Given the description of an element on the screen output the (x, y) to click on. 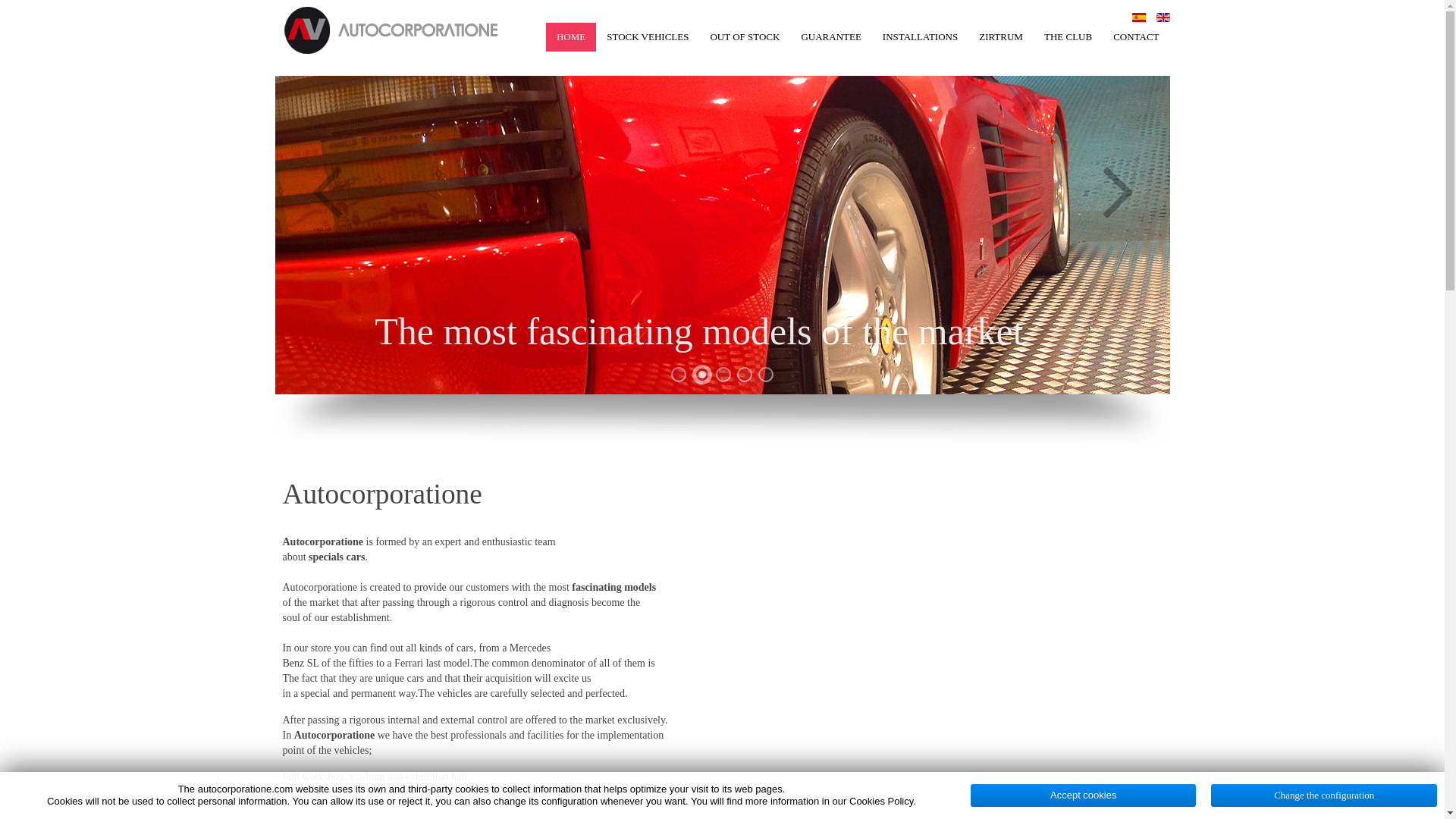
INSTALLATIONS (920, 36)
OUT OF STOCK (744, 36)
CONTACT (1135, 36)
HOME (570, 36)
ZIRTRUM (1000, 36)
STOCK VEHICLES (646, 36)
GUARANTEE (830, 36)
THE CLUB (1067, 36)
spanish (1138, 17)
